Given the description of an element on the screen output the (x, y) to click on. 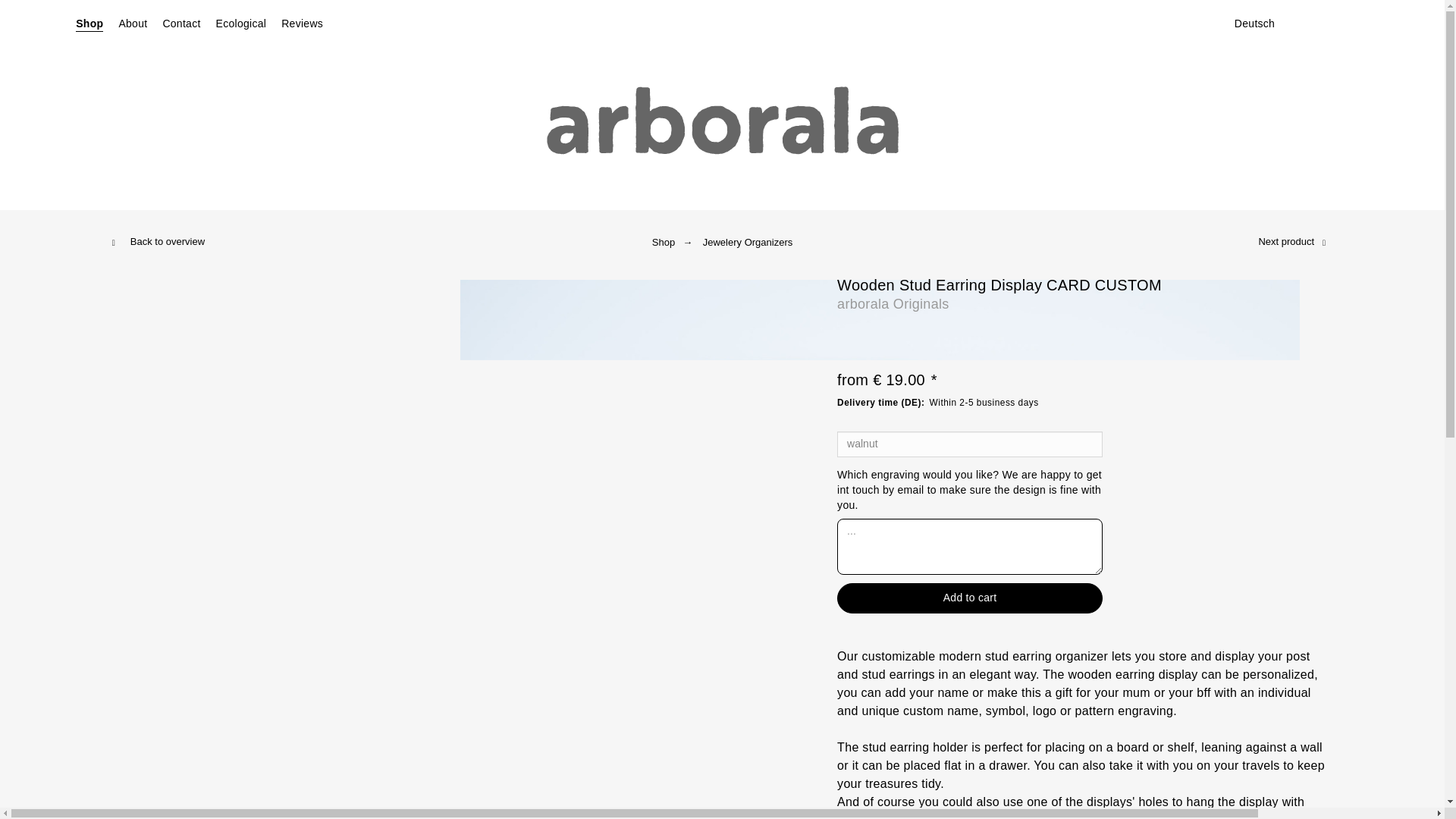
Contact (180, 20)
Next product (1285, 241)
Jewelery Organizers (748, 242)
About (132, 20)
Shop (89, 20)
Next product (1285, 241)
Contact (180, 20)
About (132, 20)
Shop Startseite (89, 20)
Shop (663, 242)
